Given the description of an element on the screen output the (x, y) to click on. 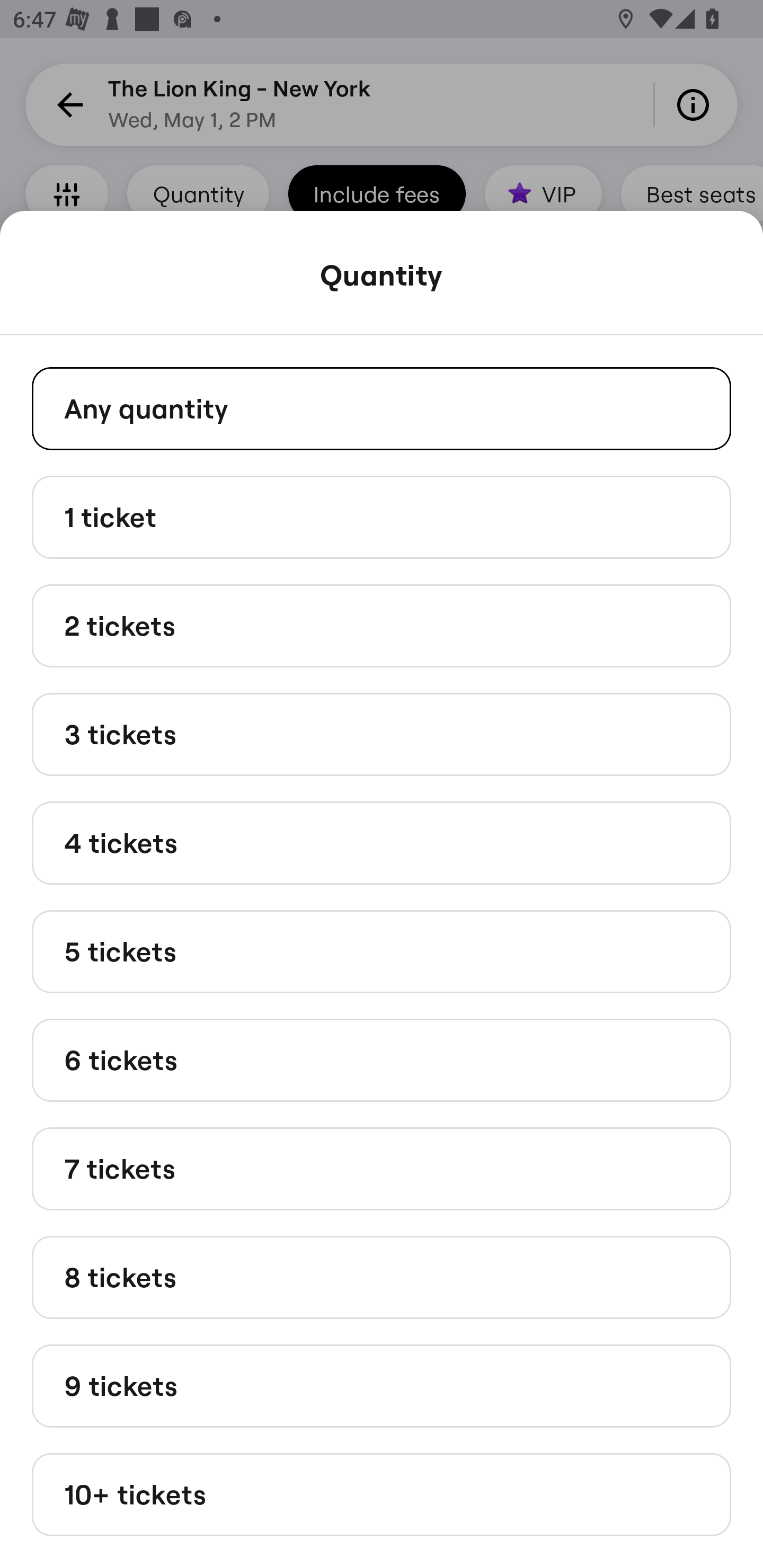
Any quantity (381, 408)
1 ticket (381, 516)
2 tickets (381, 625)
3 tickets (381, 734)
4 tickets (381, 842)
5 tickets (381, 950)
6 tickets (381, 1060)
7 tickets (381, 1168)
8 tickets (381, 1276)
9 tickets (381, 1384)
10+ tickets (381, 1494)
